Given the description of an element on the screen output the (x, y) to click on. 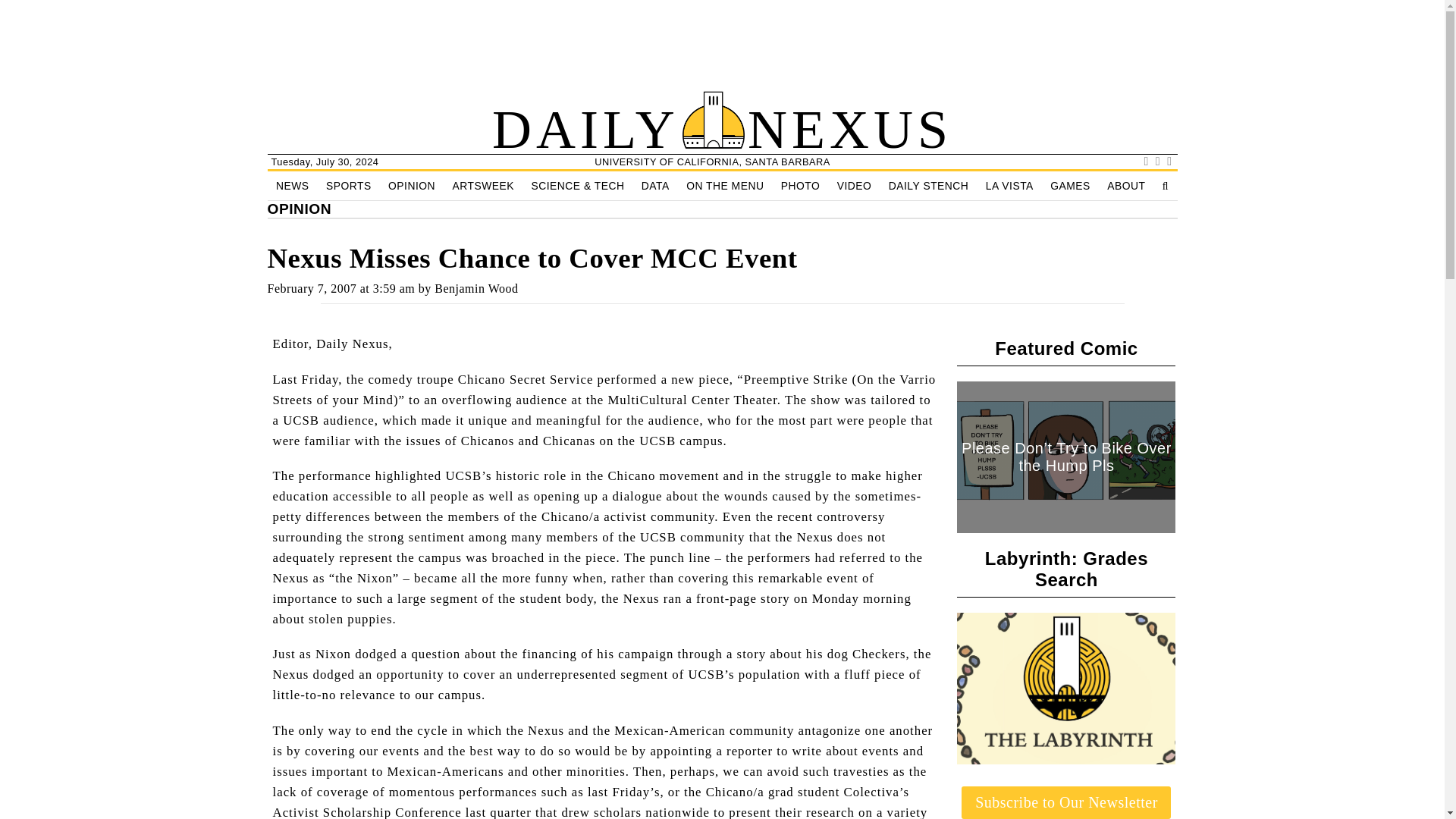
Posts by Benjamin Wood (475, 287)
